Given the description of an element on the screen output the (x, y) to click on. 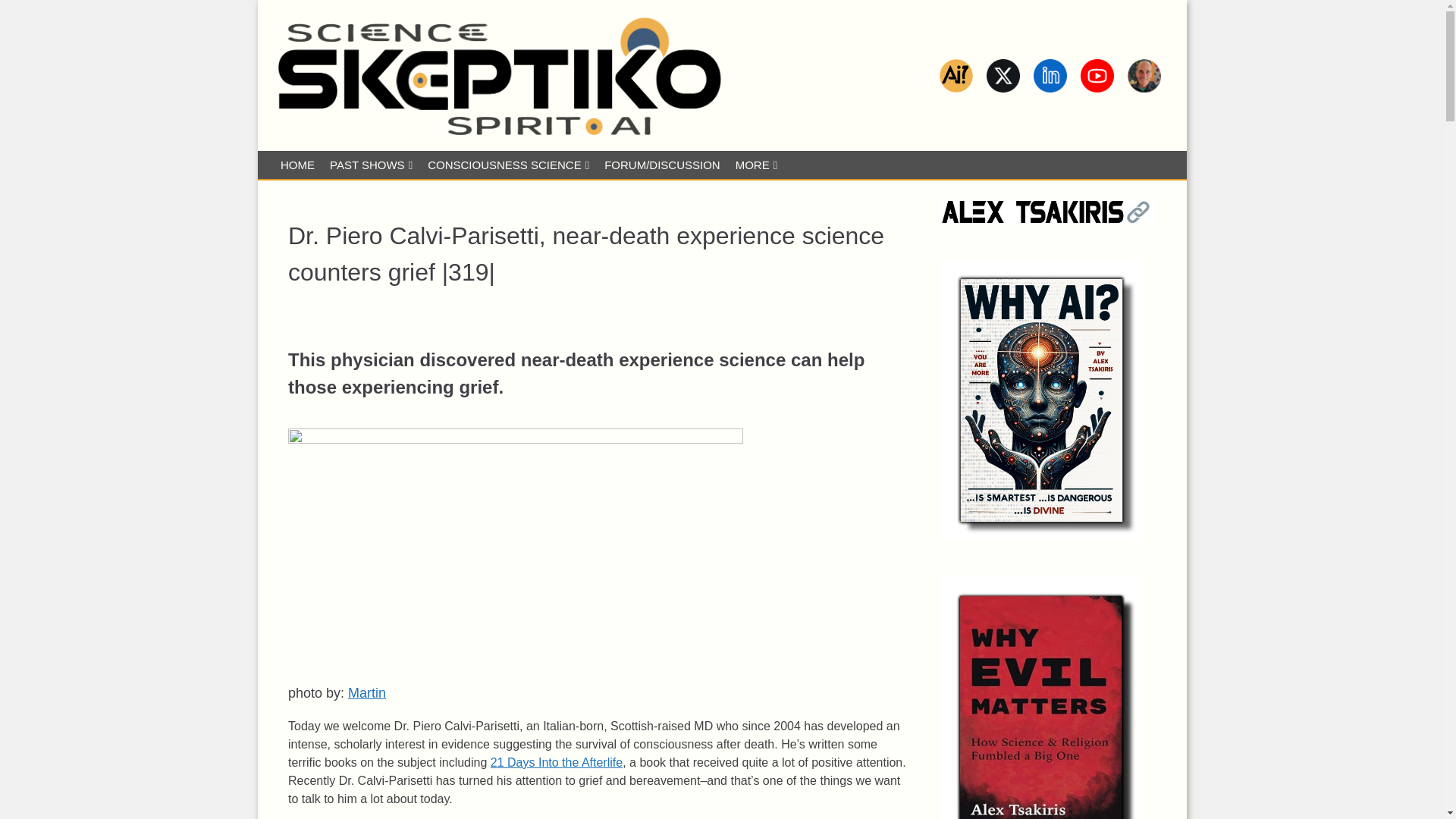
Martin (366, 693)
CONSCIOUSNESS SCIENCE (508, 164)
HOME (297, 164)
MORE (756, 164)
PAST SHOWS (370, 164)
21 Days Into the Afterlife (556, 762)
